Given the description of an element on the screen output the (x, y) to click on. 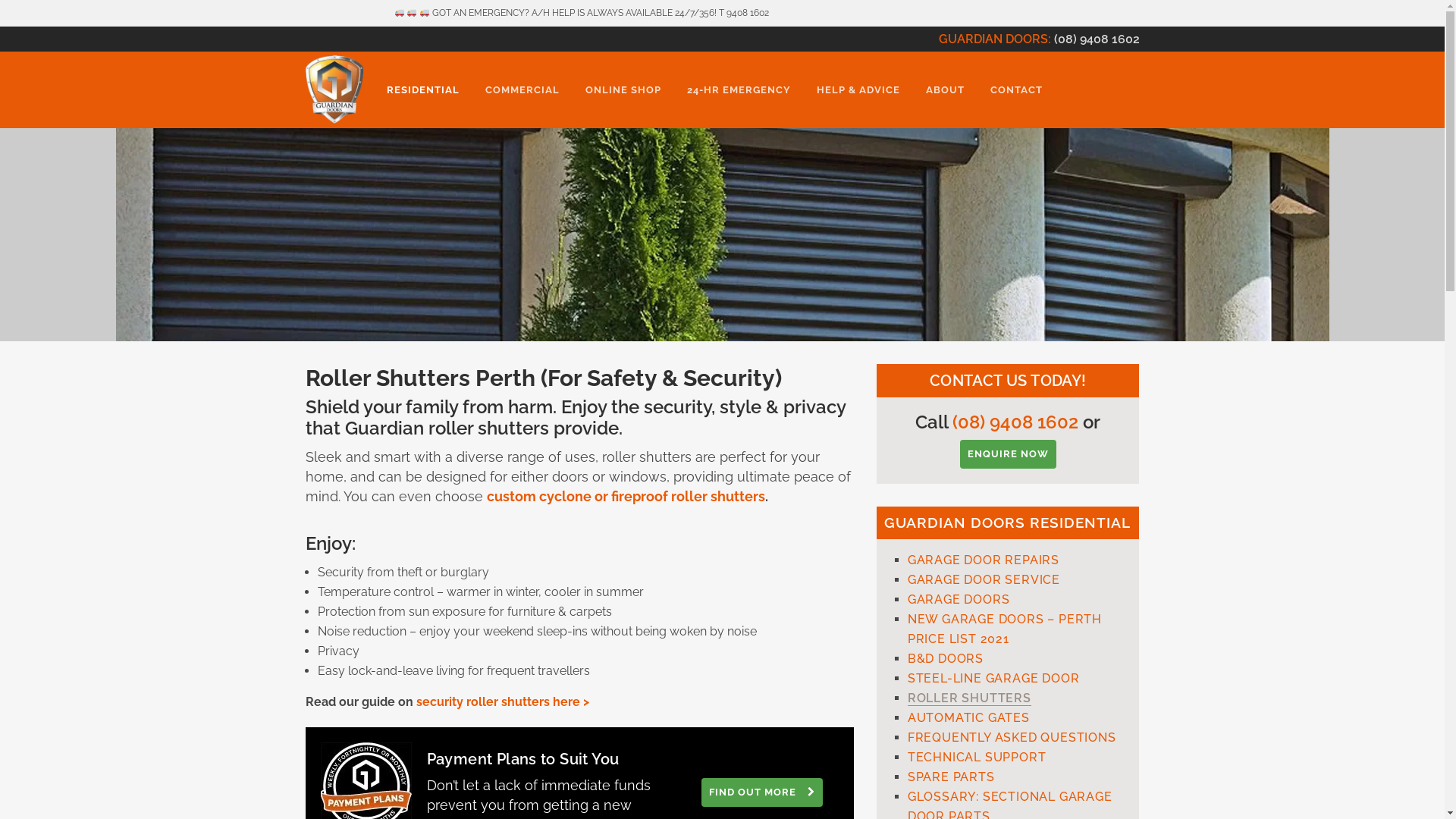
RESIDENTIAL Element type: text (422, 90)
B&D DOORS Element type: text (945, 658)
AUTOMATIC GATES Element type: text (968, 717)
security roller shutters here > Element type: text (501, 701)
STEEL-LINE GARAGE DOOR Element type: text (993, 678)
HELP & ADVICE Element type: text (858, 90)
ENQUIRE NOW Element type: text (1008, 453)
24-HR EMERGENCY Element type: text (738, 90)
(08) 9408 1602 Element type: text (1015, 422)
ONLINE SHOP Element type: text (622, 90)
GARAGE DOOR SERVICE Element type: text (983, 579)
ABOUT Element type: text (945, 90)
FREQUENTLY ASKED QUESTIONS Element type: text (1011, 737)
GARAGE DOORS Element type: text (958, 599)
TECHNICAL SUPPORT Element type: text (976, 756)
(08) 9408 1602 Element type: text (1096, 38)
COMMERCIAL Element type: text (521, 90)
ROLLER SHUTTERS Element type: text (969, 698)
custom cyclone or fireproof roller shutters Element type: text (625, 496)
GARAGE DOOR REPAIRS Element type: text (983, 559)
FIND OUT MORE Element type: text (761, 792)
CONTACT Element type: text (1015, 90)
SPARE PARTS Element type: text (950, 776)
